Given the description of an element on the screen output the (x, y) to click on. 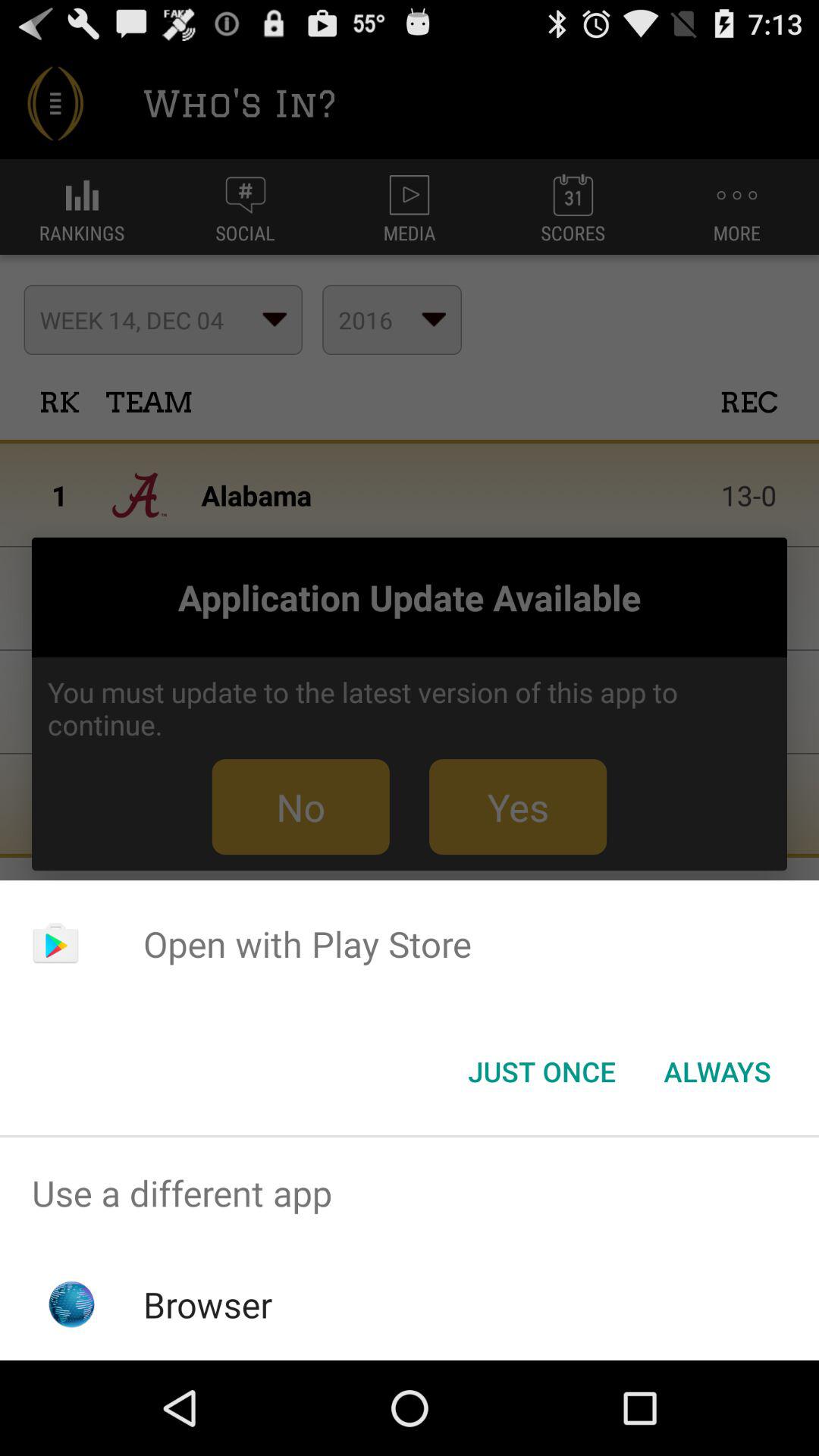
scroll to use a different (409, 1192)
